Given the description of an element on the screen output the (x, y) to click on. 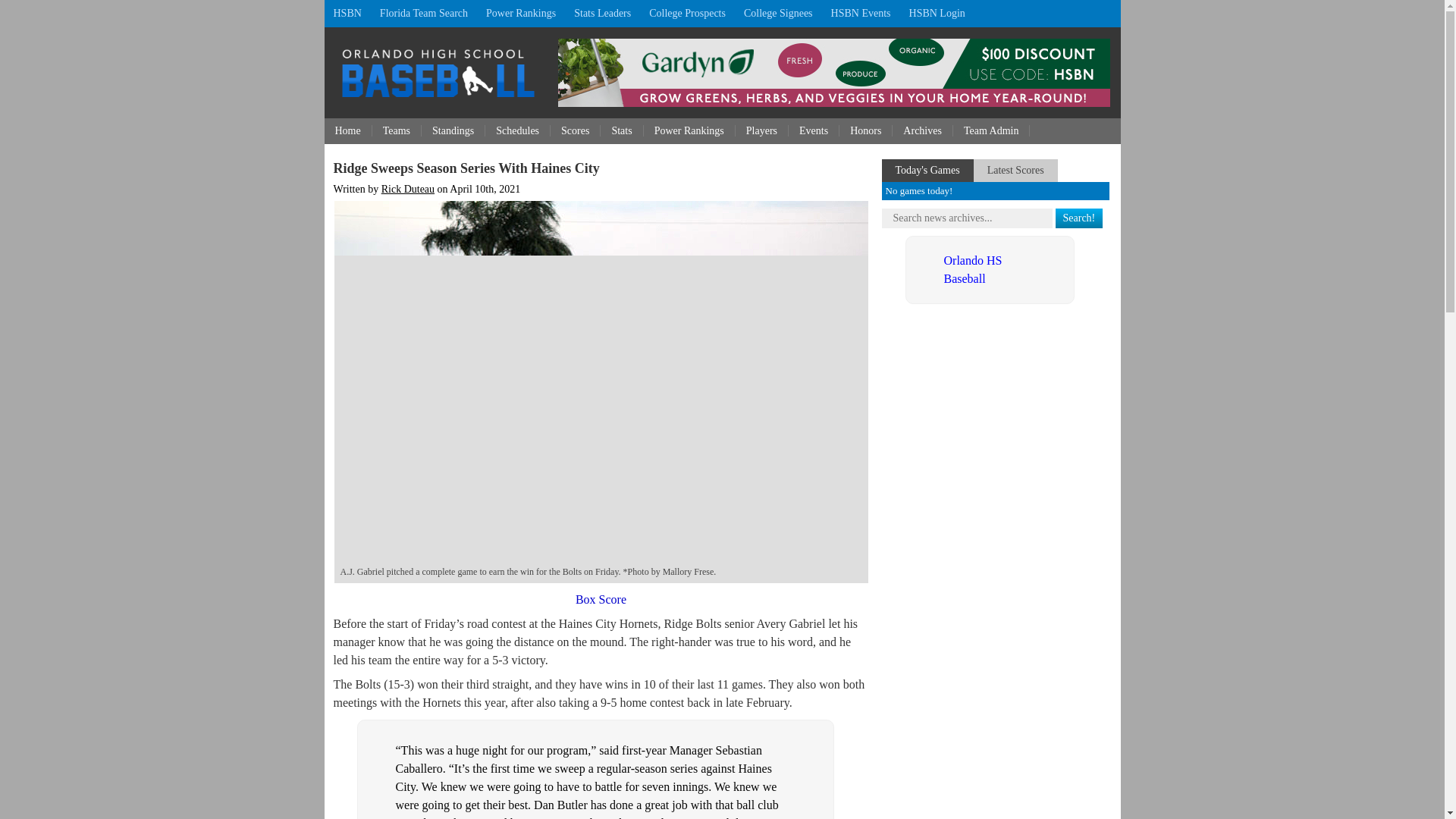
College Signees (778, 13)
HSBN Stats Leaders (602, 13)
HSBN Events (860, 13)
HSBN Clubhouse (936, 13)
Stats Leaders (602, 13)
Home (348, 130)
College Prospects (687, 13)
HSBN (347, 13)
Power Rankings (520, 13)
High School Baseball Network (347, 13)
